Given the description of an element on the screen output the (x, y) to click on. 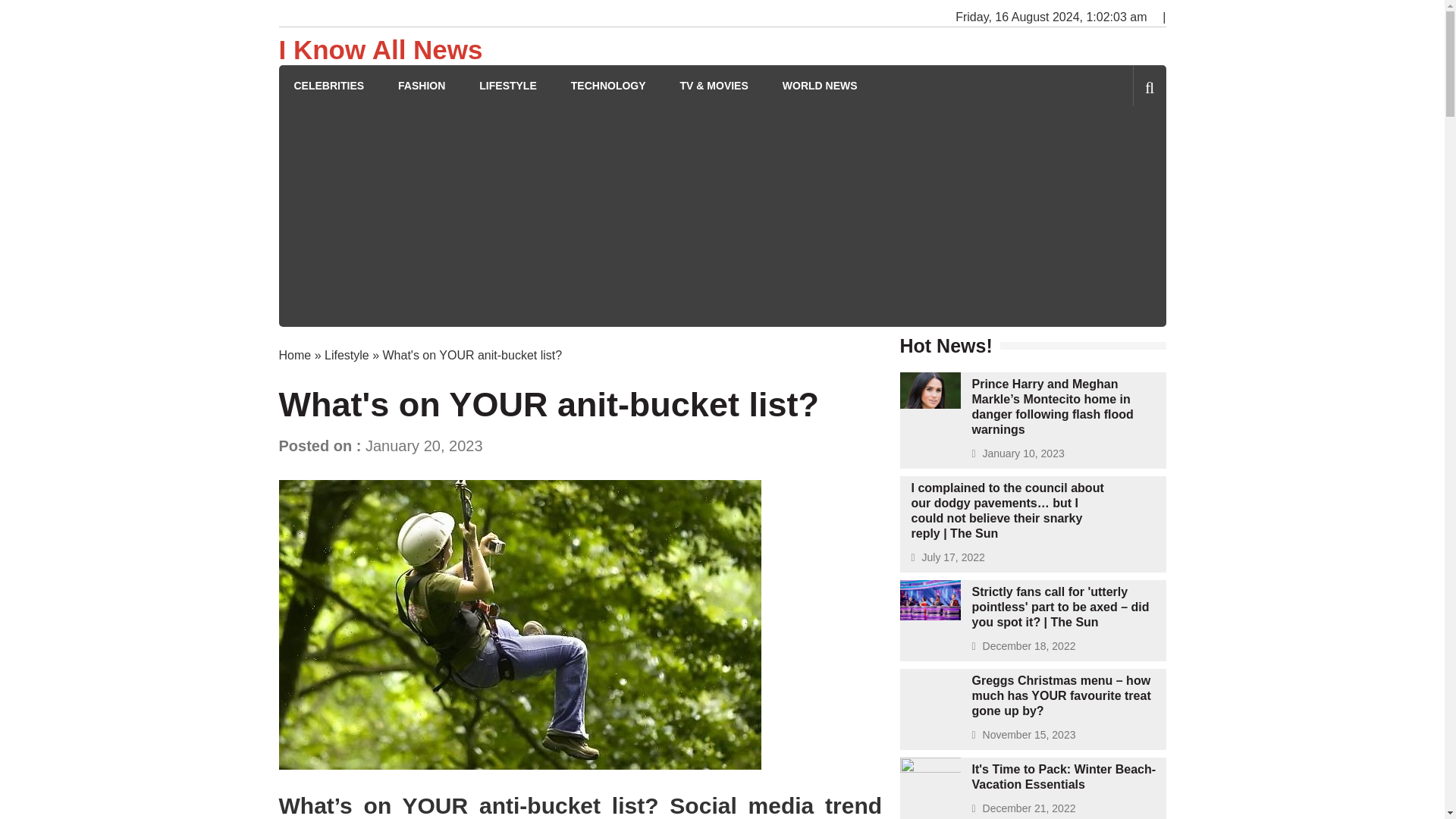
FASHION (421, 86)
LIFESTYLE (507, 86)
January 10, 2023 (1023, 453)
I Know All News (381, 50)
It's Time to Pack: Winter Beach-Vacation Essentials (1064, 776)
Search (1123, 150)
November 15, 2023 (1028, 734)
January 20, 2023 (424, 445)
December 21, 2022 (1028, 808)
